Given the description of an element on the screen output the (x, y) to click on. 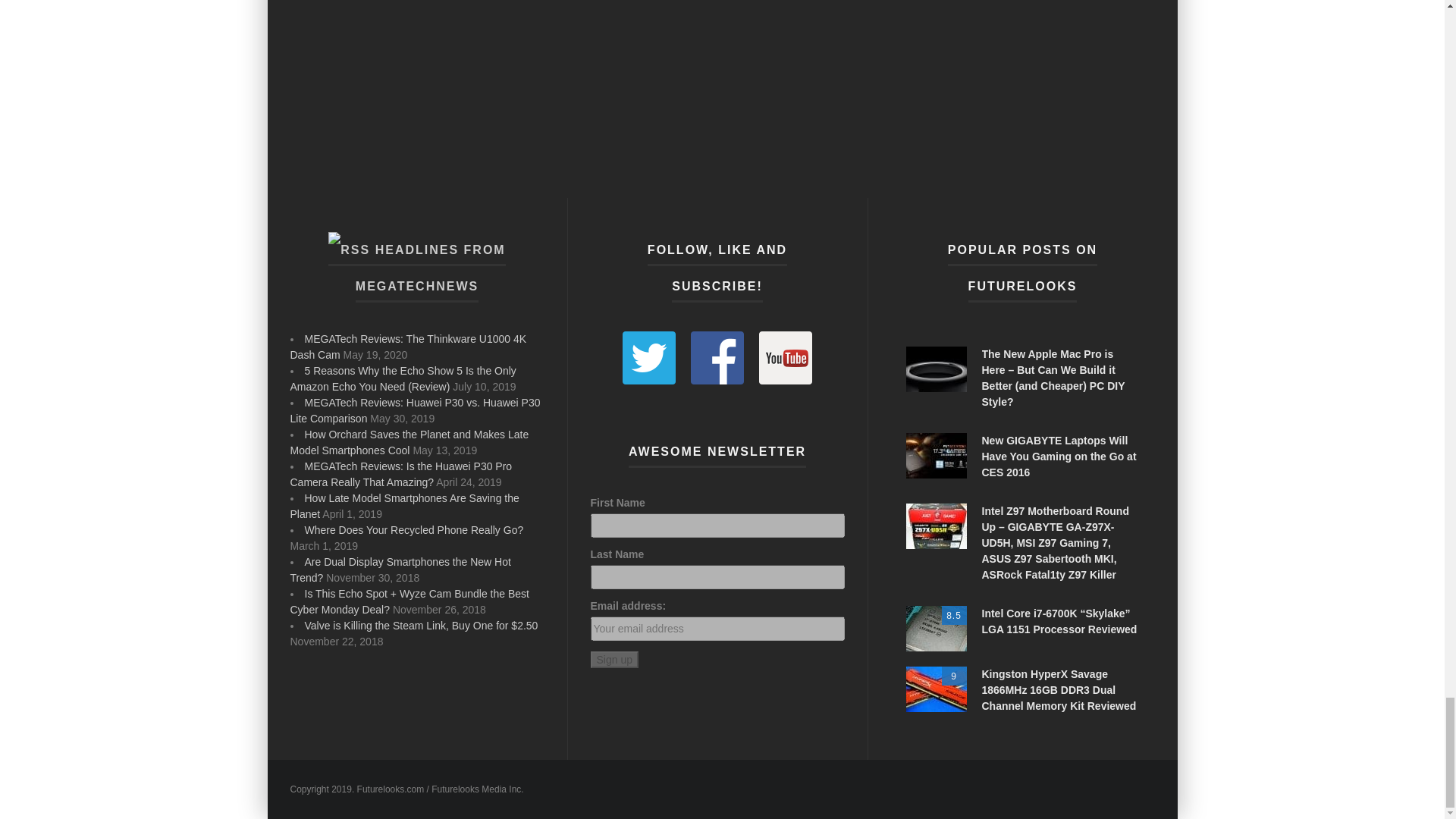
Sign up (613, 659)
